Given the description of an element on the screen output the (x, y) to click on. 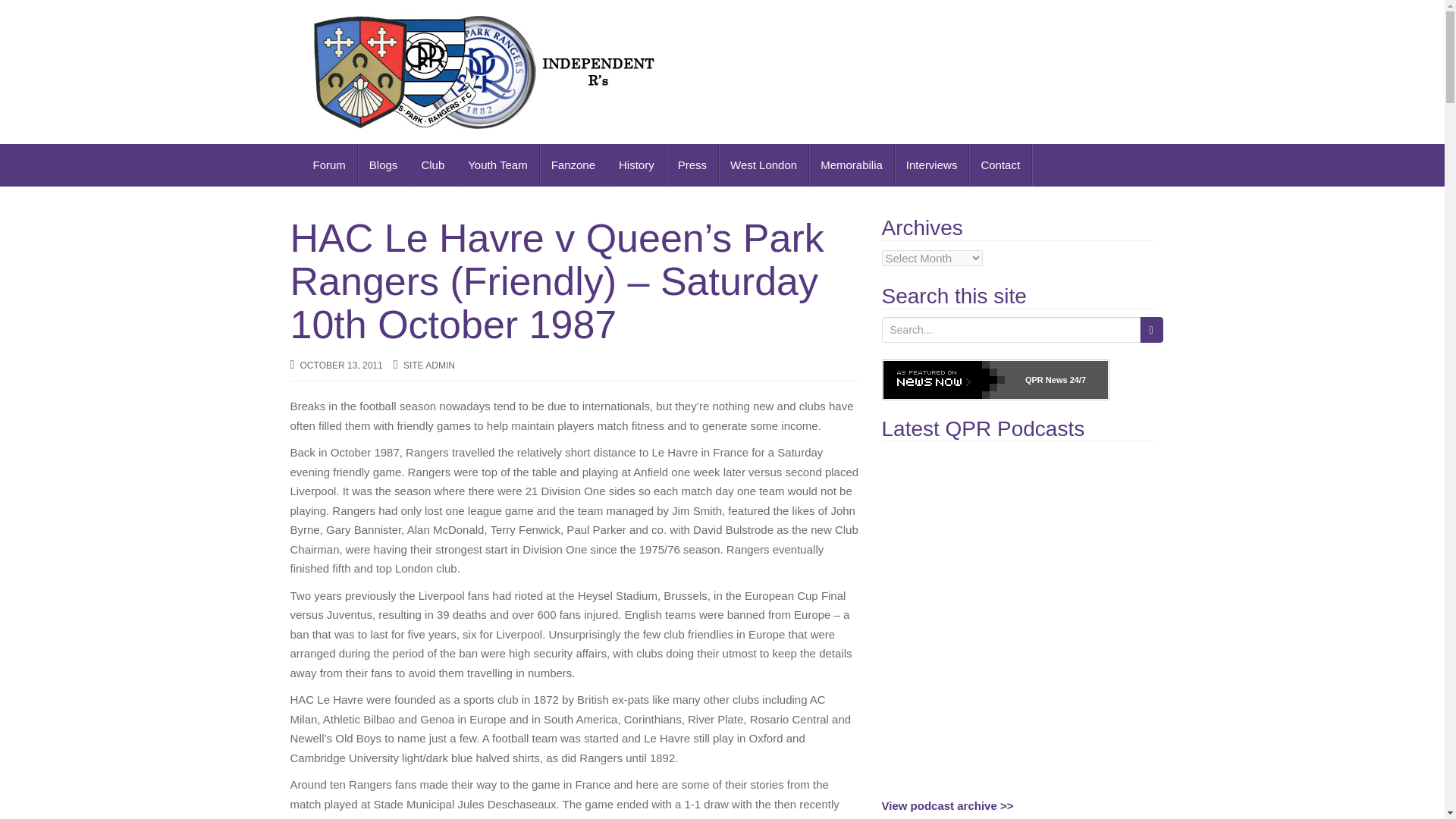
Club (433, 165)
Fanzone (573, 165)
Contact (1000, 165)
Forum (329, 165)
History (636, 165)
Memorabilia (852, 165)
Blogs (384, 165)
Interviews (932, 165)
Press (692, 165)
QPR News (1046, 379)
